Given the description of an element on the screen output the (x, y) to click on. 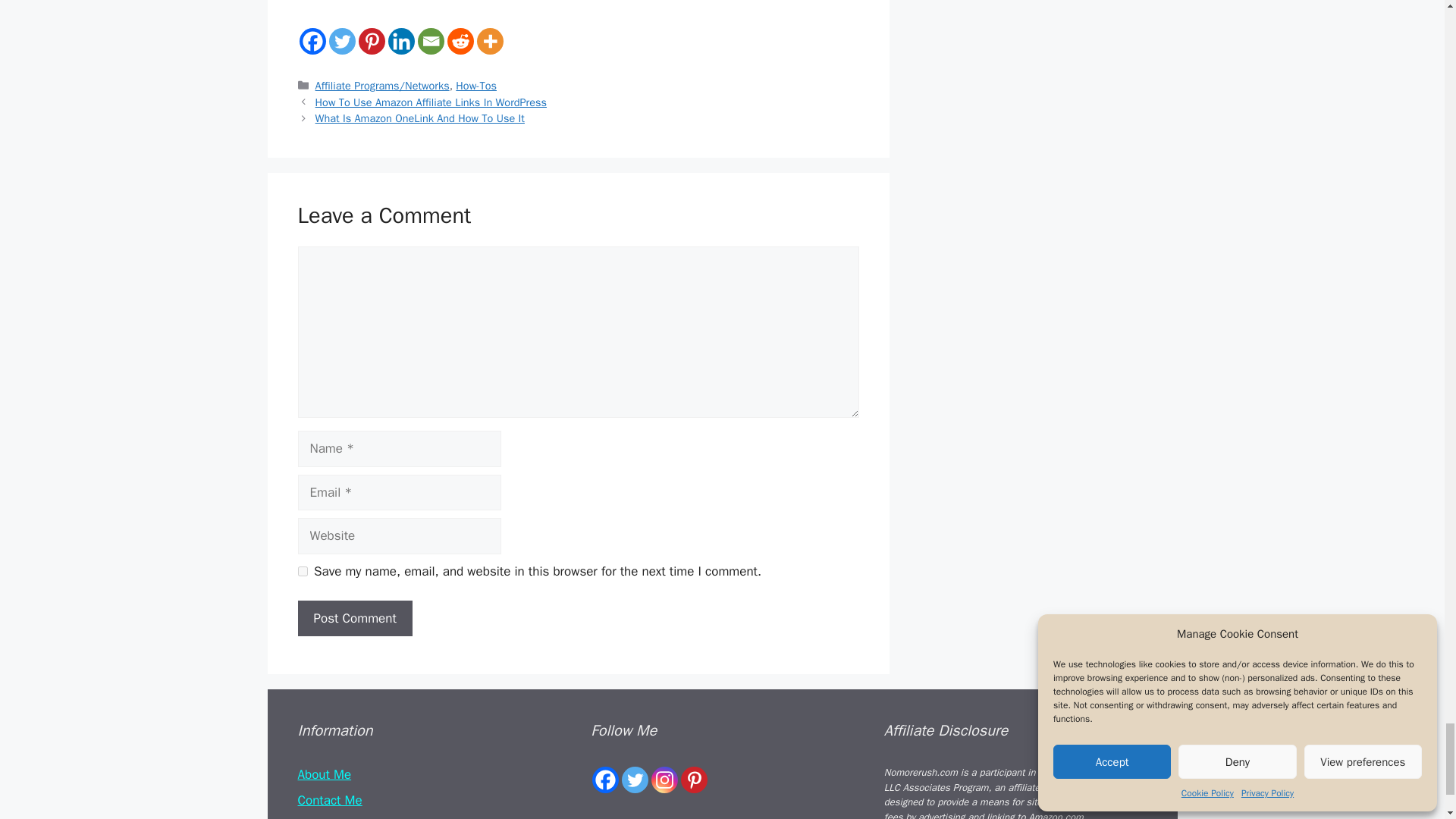
yes (302, 571)
Post Comment (354, 618)
